Given the description of an element on the screen output the (x, y) to click on. 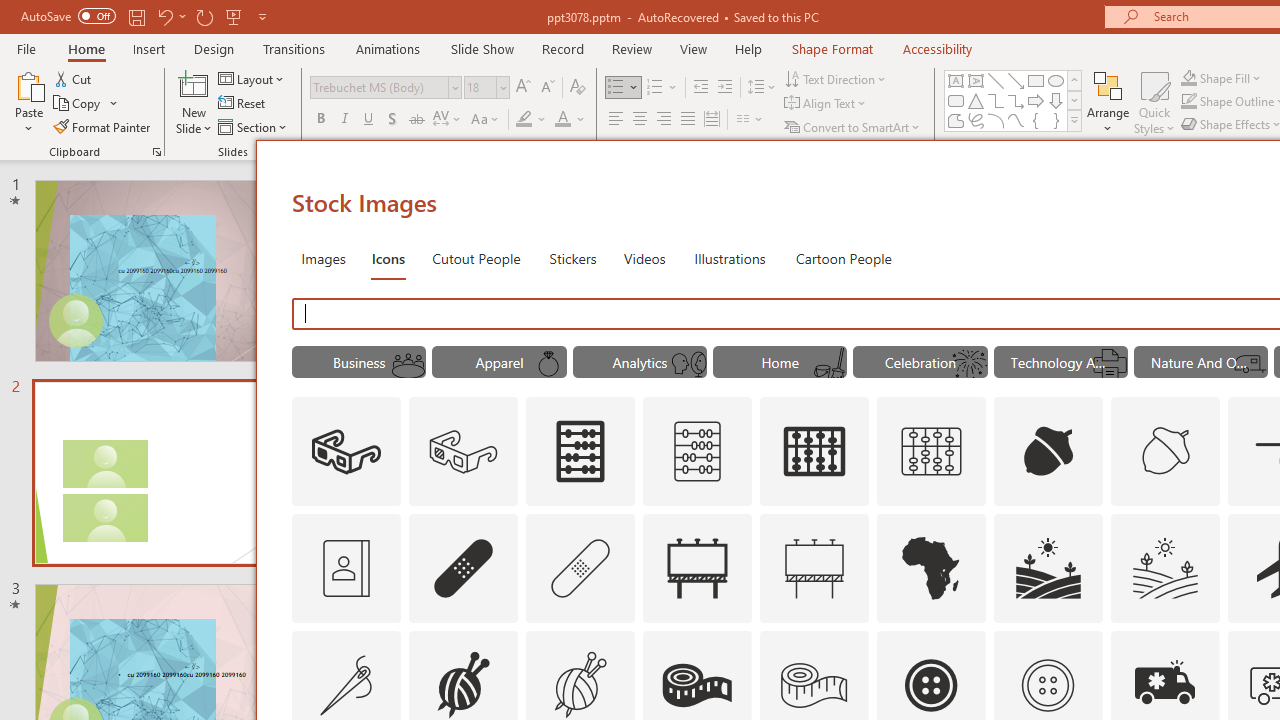
Office Clipboard... (156, 151)
Shape Format (832, 48)
Cutout People (477, 258)
Reset (243, 103)
